Given the description of an element on the screen output the (x, y) to click on. 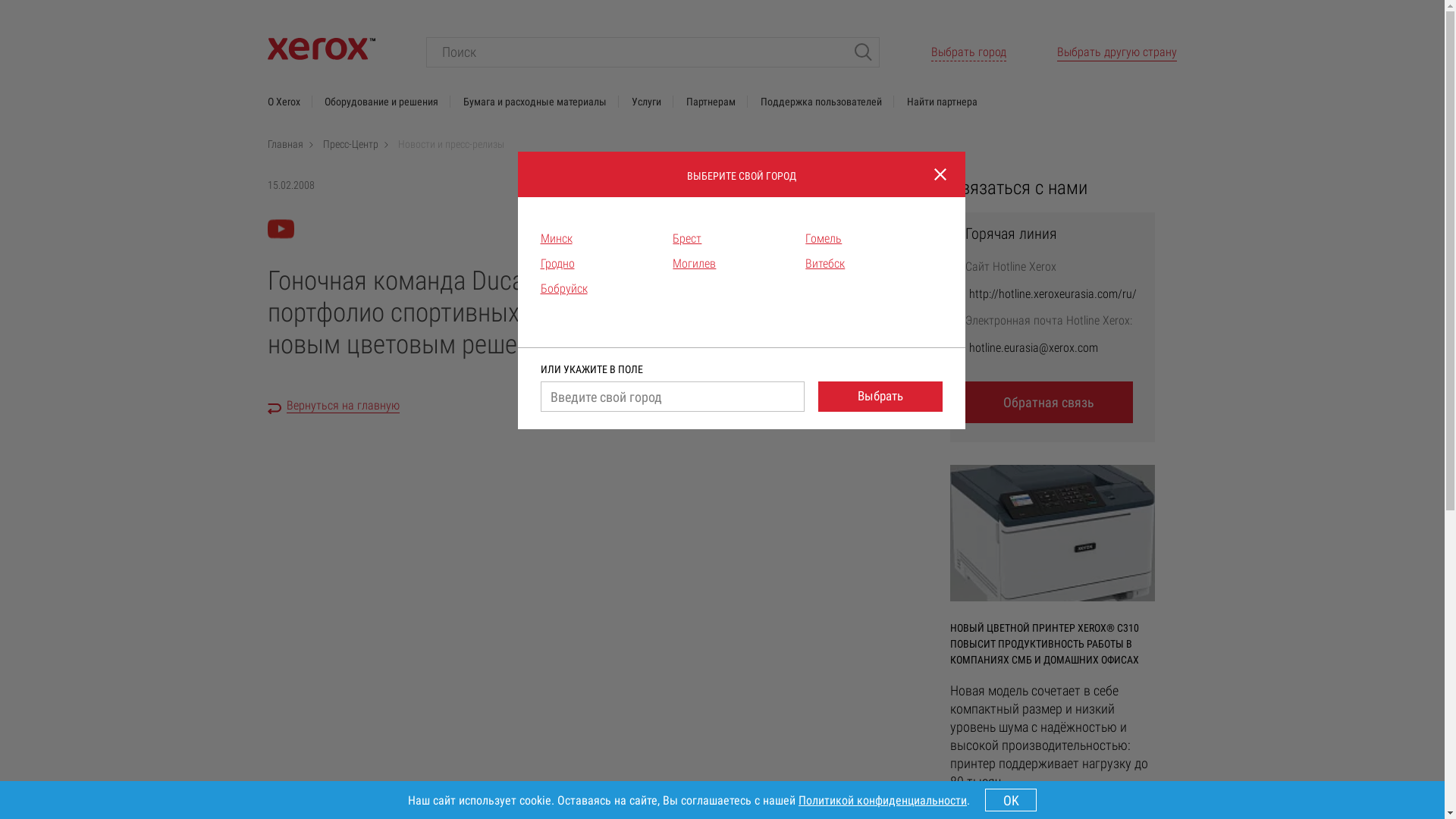
OK Element type: text (1010, 799)
http://hotline.xeroxeurasia.com/ru/ Element type: text (1052, 293)
hotline.eurasia@xerox.com Element type: text (1033, 347)
